Given the description of an element on the screen output the (x, y) to click on. 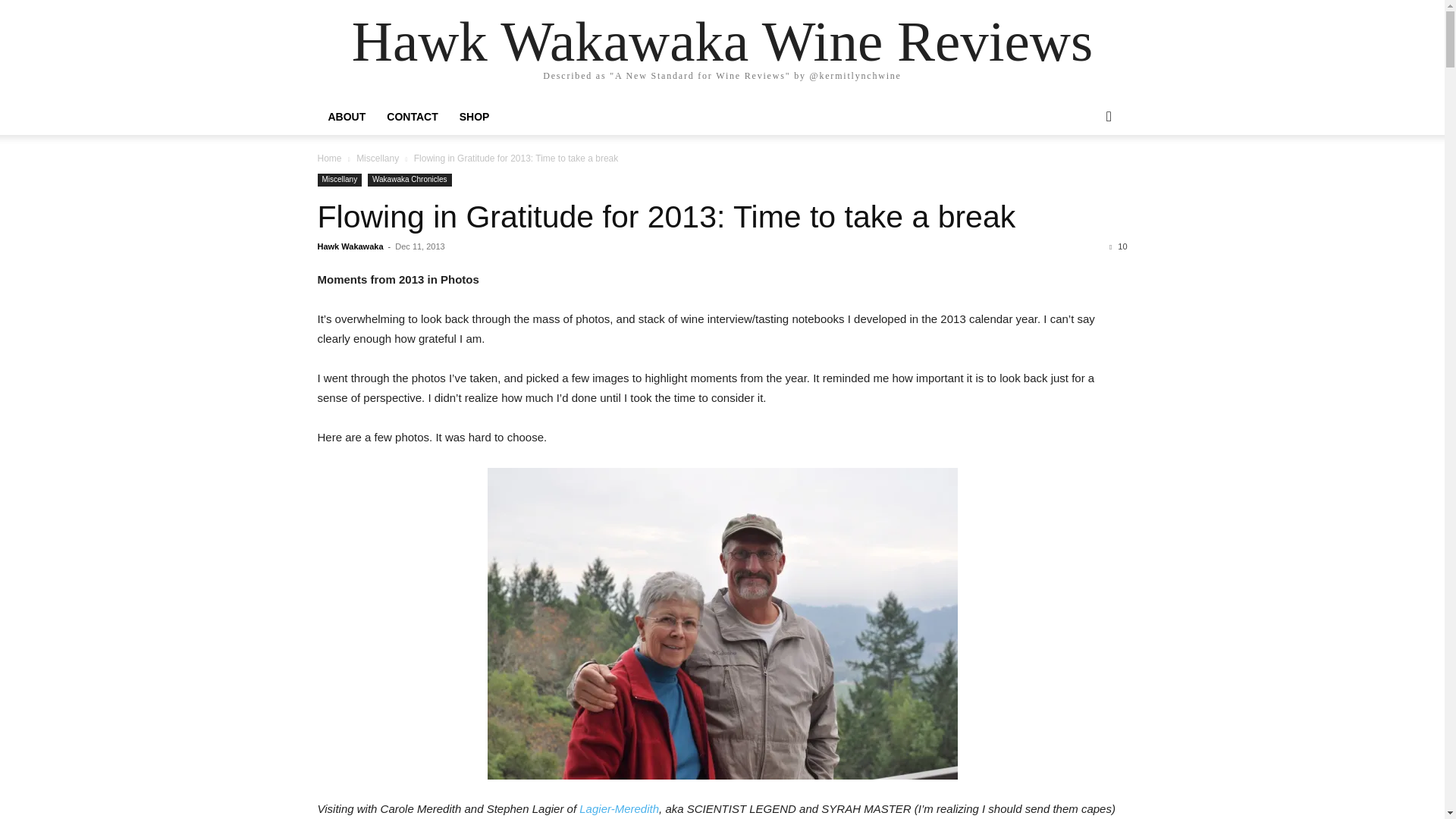
10 (1117, 245)
Wakawaka Chronicles (409, 179)
Hawk Wakawaka Wine Reviews (722, 41)
Hawk Wakawaka (349, 245)
Miscellany (339, 179)
Flowing in Gratitude for 2013: Time to take a break (665, 216)
ABOUT (346, 116)
Search (1085, 177)
Flowing in Gratitude for 2013: Time to take a break (665, 216)
SHOP (474, 116)
